Given the description of an element on the screen output the (x, y) to click on. 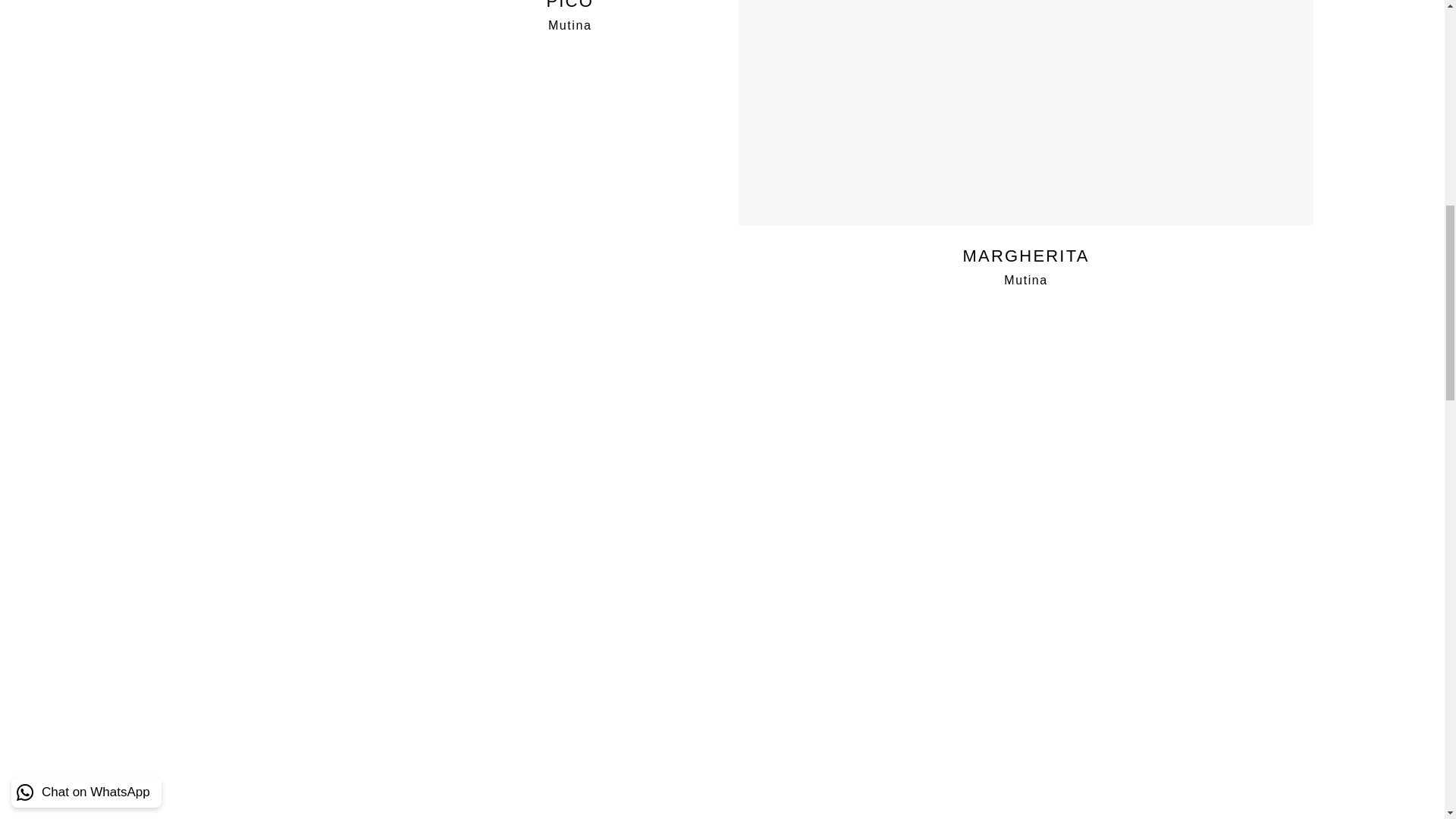
Pico (569, 4)
Mutina (570, 24)
